Given the description of an element on the screen output the (x, y) to click on. 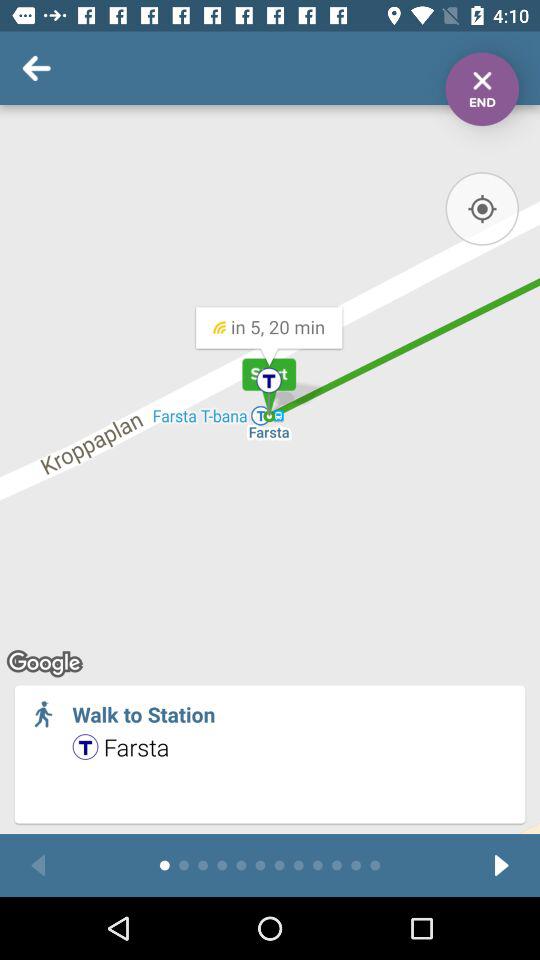
its helps to go backward (38, 865)
